Given the description of an element on the screen output the (x, y) to click on. 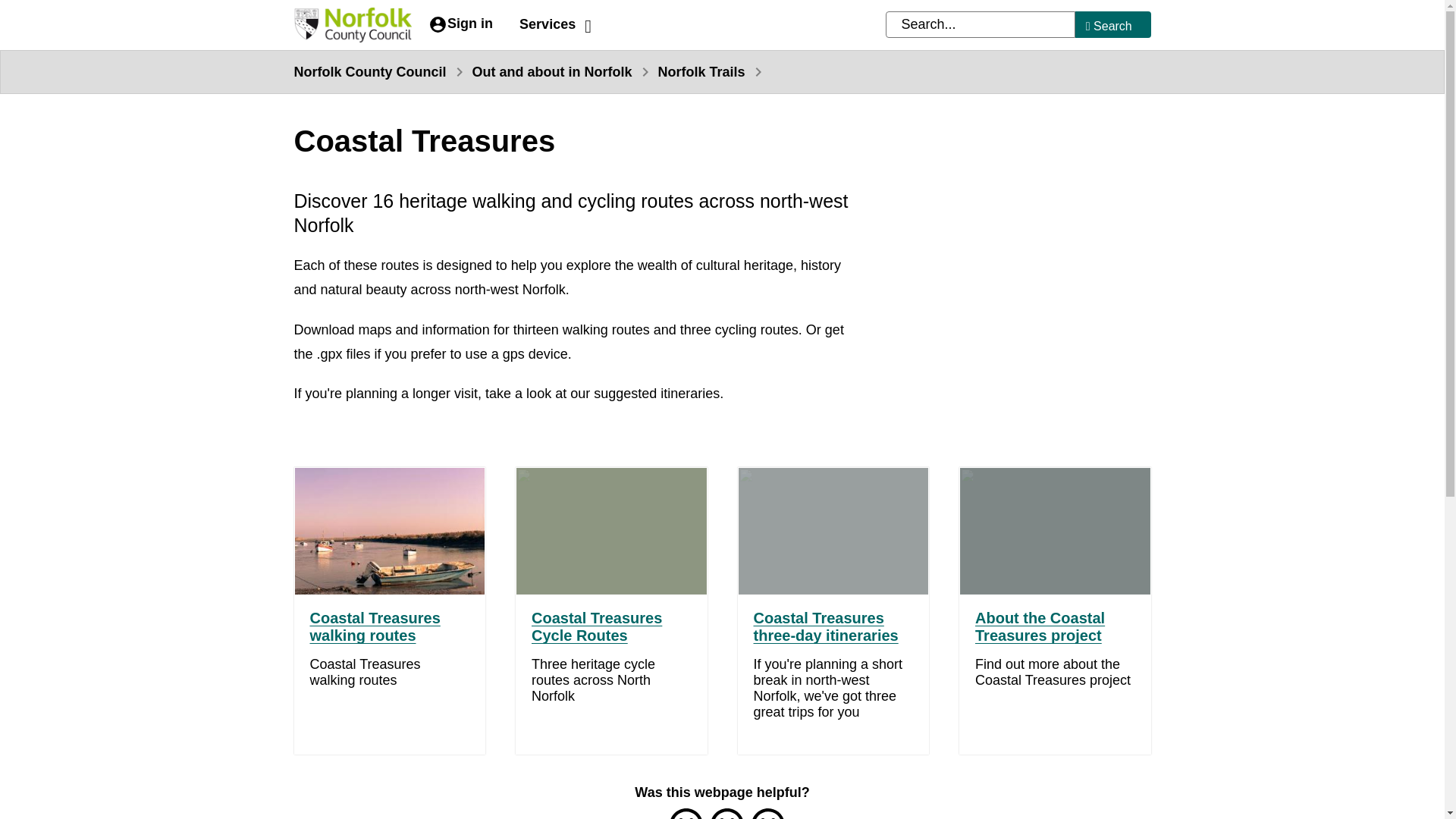
Rate this page as poor (767, 813)
Search (1113, 24)
Out and about in Norfolk (551, 71)
Sign in (460, 24)
Coastal Treasures walking routes (373, 626)
Coastal Treasures Cycle Routes (596, 626)
Rate this page as good (684, 813)
Rate this page as good (684, 813)
About the Coastal Treasures project (1040, 626)
Norfolk County Council (370, 71)
